Given the description of an element on the screen output the (x, y) to click on. 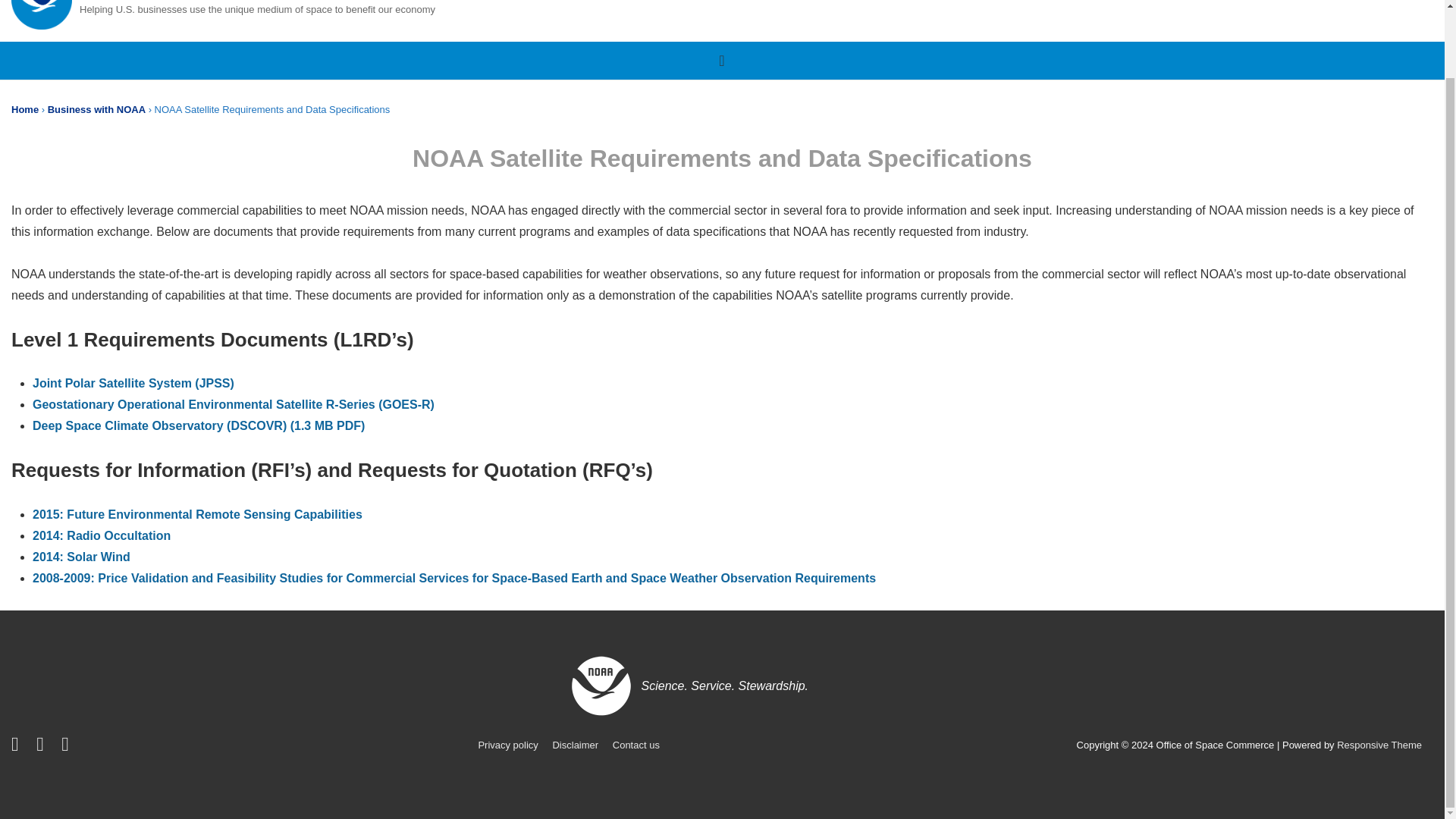
twitter (17, 747)
linkedin (42, 747)
email (66, 747)
MENU (721, 60)
